Given the description of an element on the screen output the (x, y) to click on. 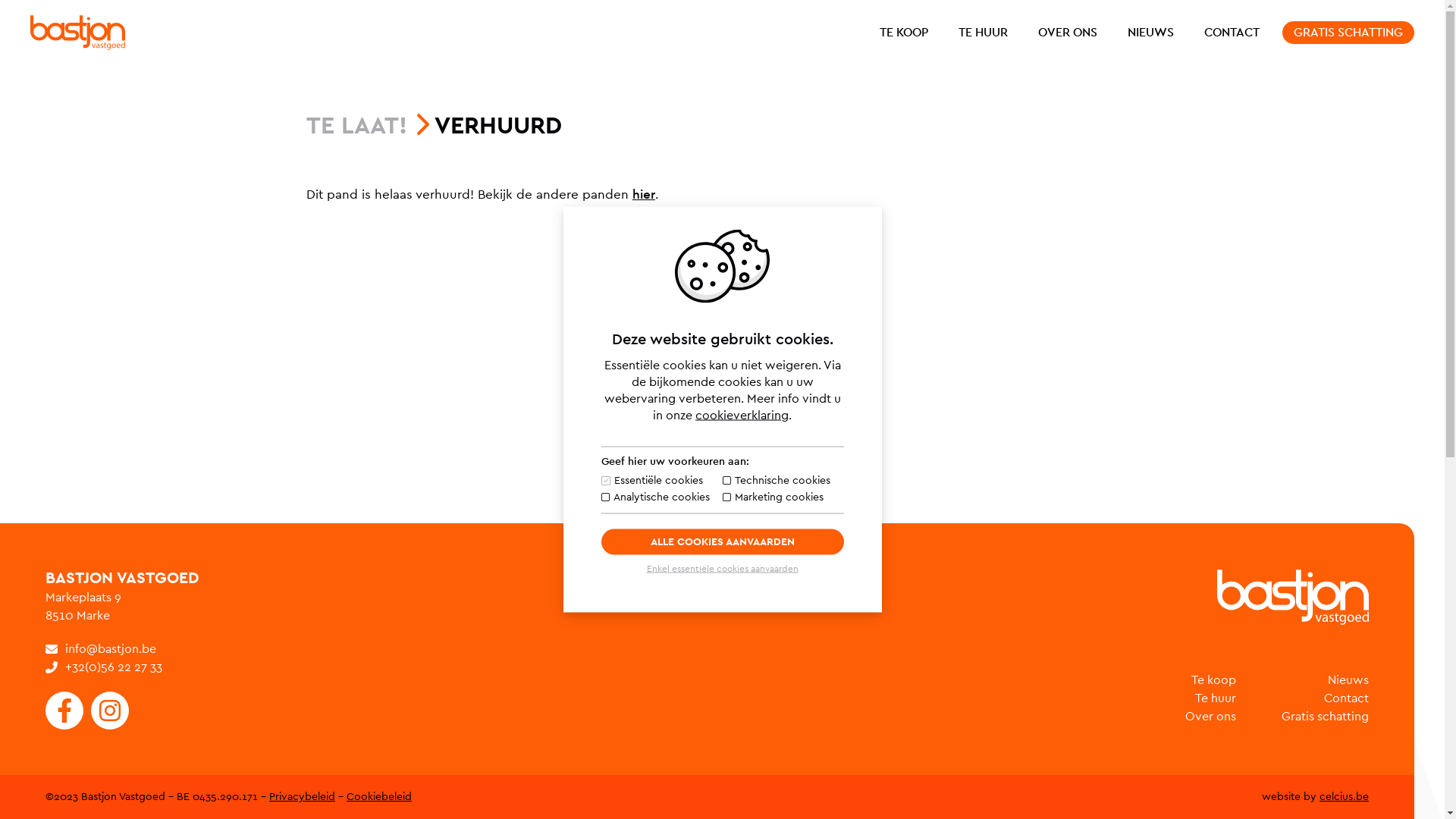
Cookiebeleid Element type: text (378, 796)
ALLE COOKIES AANVAARDEN Element type: text (721, 542)
Nieuws Element type: text (1347, 680)
TE KOOP Element type: text (903, 32)
Terug naar hoofdpagina Element type: hover (77, 32)
cookieverklaring Element type: text (741, 415)
Terug naar hoofdpagina Element type: hover (1292, 596)
website by celcius.be Element type: text (1314, 796)
Te koop Element type: text (1213, 680)
+32(0)56 22 27 33 Element type: text (103, 667)
hier Element type: text (643, 194)
Gratis schatting Element type: text (1324, 716)
info@bastjon.be Element type: text (100, 649)
NIEUWS Element type: text (1150, 32)
GRATIS SCHATTING Element type: text (1348, 32)
Contact Element type: text (1346, 698)
CONTACT Element type: text (1231, 32)
Facebook Element type: hover (64, 710)
Te huur Element type: text (1215, 698)
TE HUUR Element type: text (982, 32)
Over ons Element type: text (1210, 716)
Privacybeleid Element type: text (302, 796)
Instagram Element type: hover (109, 710)
OVER ONS Element type: text (1067, 32)
